Given the description of an element on the screen output the (x, y) to click on. 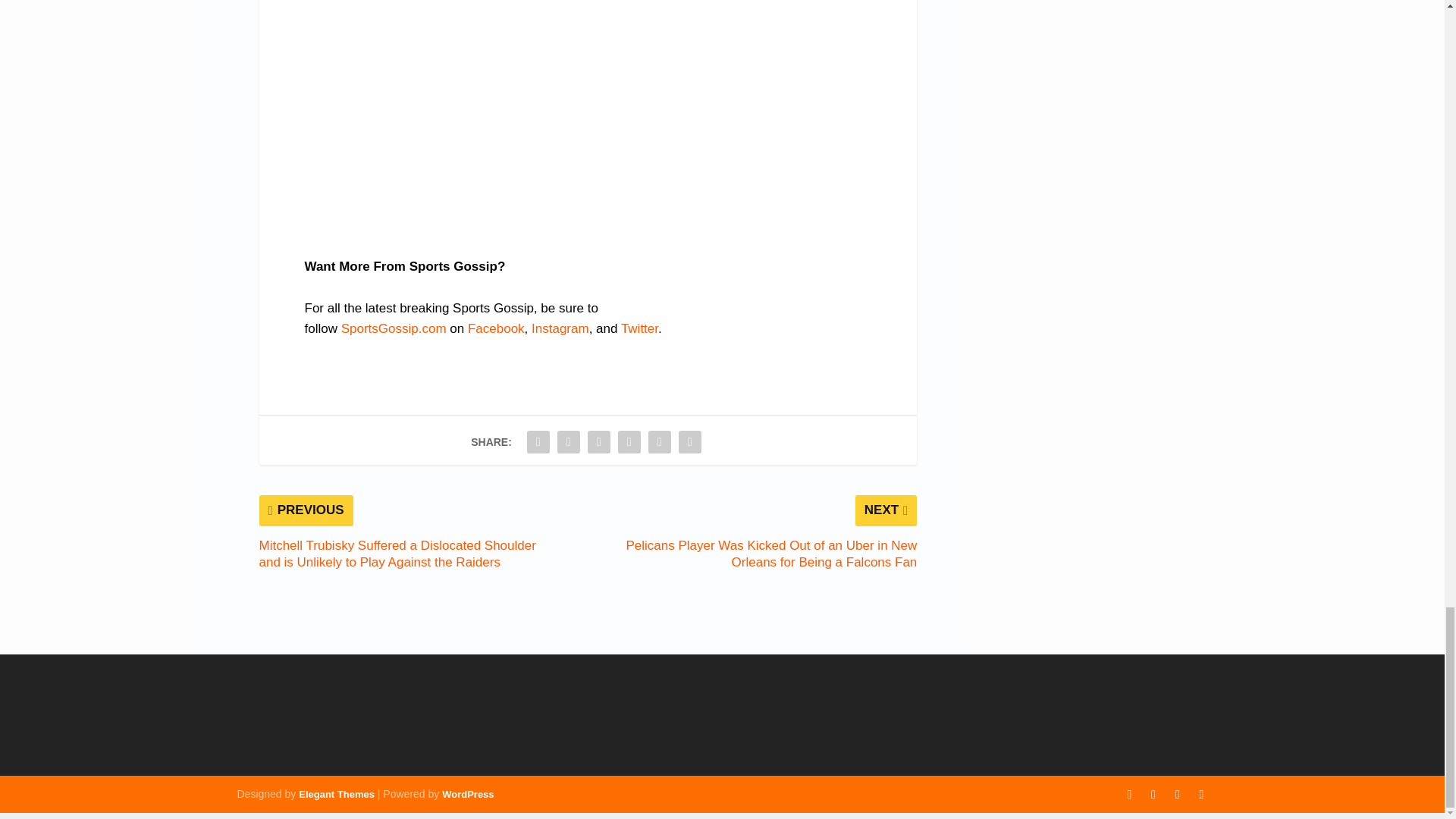
Facebook (495, 328)
SportsGossip.com (393, 328)
Twitter (639, 328)
Instagram (560, 328)
